Given the description of an element on the screen output the (x, y) to click on. 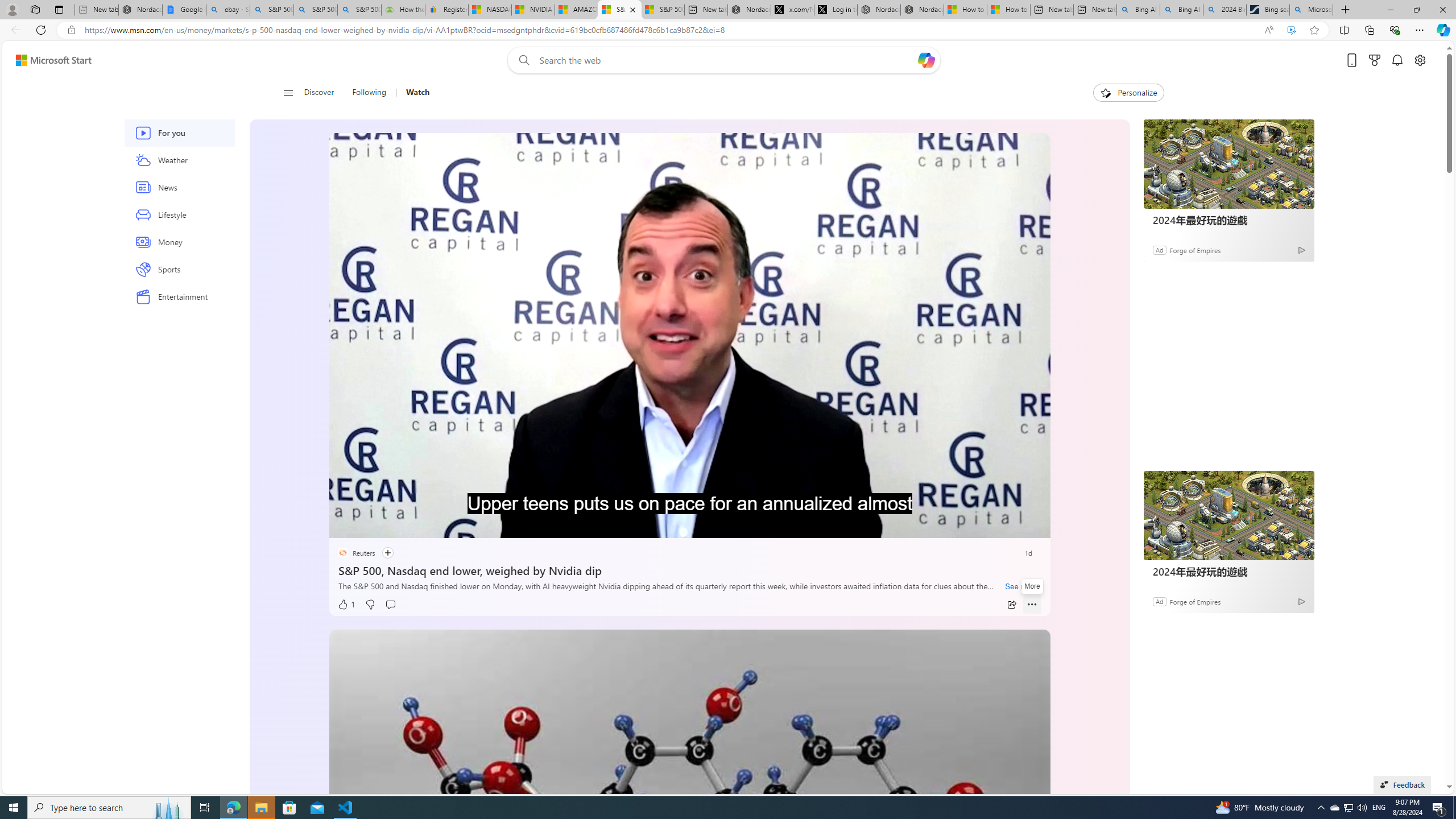
S&P 500 - Search (315, 9)
Share (1010, 604)
Bing search market share worldwide 2024 | Statista (1267, 9)
Quality Settings (964, 525)
Follow (387, 553)
